Given the description of an element on the screen output the (x, y) to click on. 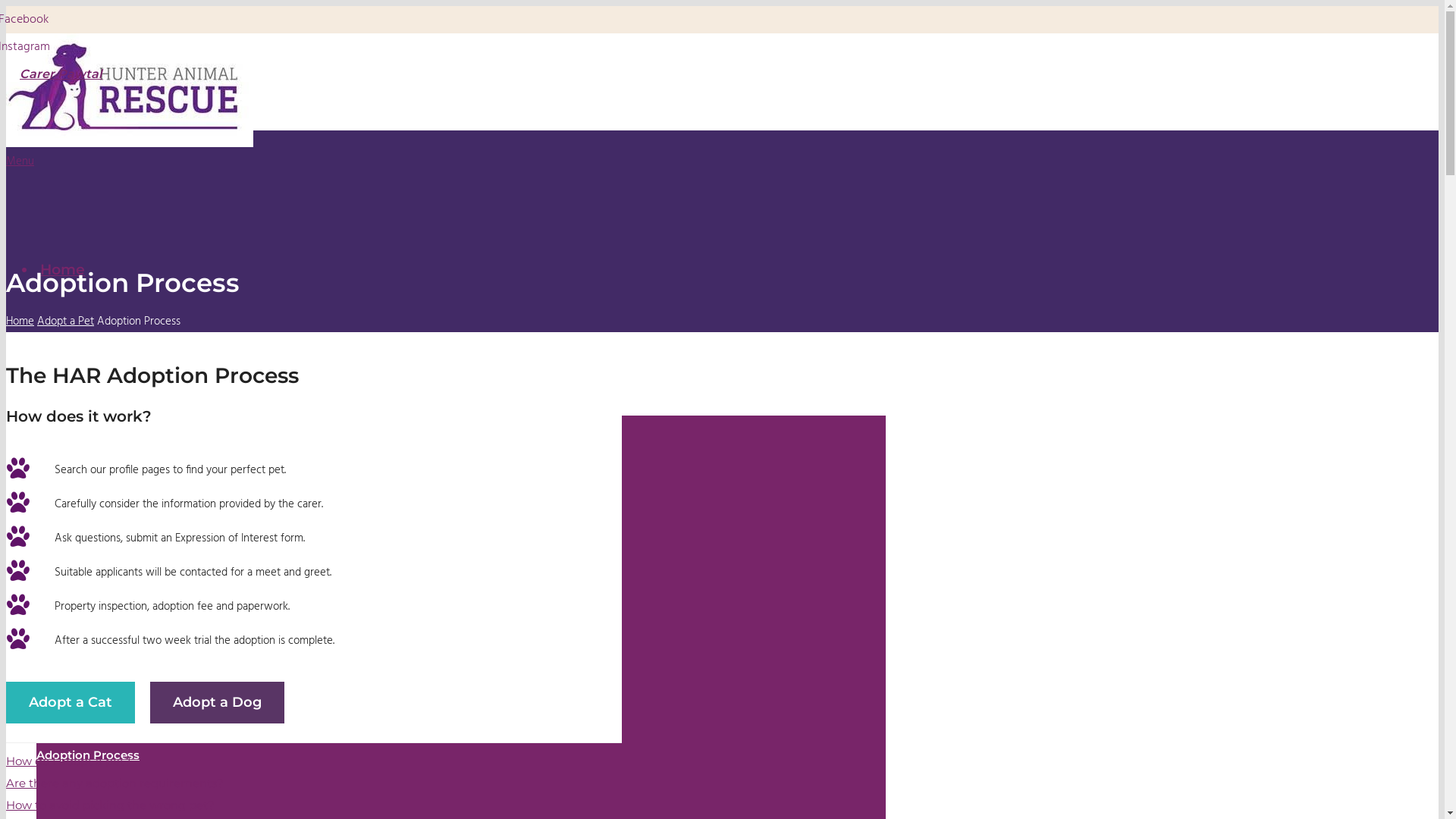
Adopt a Cat Element type: text (78, 702)
Dogs Element type: text (67, 463)
Home Element type: text (20, 321)
Menu Element type: text (445, 181)
Home Element type: text (62, 269)
Are there any adoption requirements? Element type: text (114, 784)
Adopt a Dog Element type: text (217, 702)
Adopt a Pet Element type: text (65, 321)
Adopt a Cat Element type: text (70, 702)
How to avoid picking the wrong pet? Element type: text (110, 806)
Adopt a Pet Element type: text (70, 657)
Adopt a Dog Element type: text (224, 702)
Cats Element type: text (65, 560)
Adopt Element type: text (62, 366)
Adoption Process Element type: text (87, 754)
How do I adopt a pet? Element type: text (68, 762)
